Given the description of an element on the screen output the (x, y) to click on. 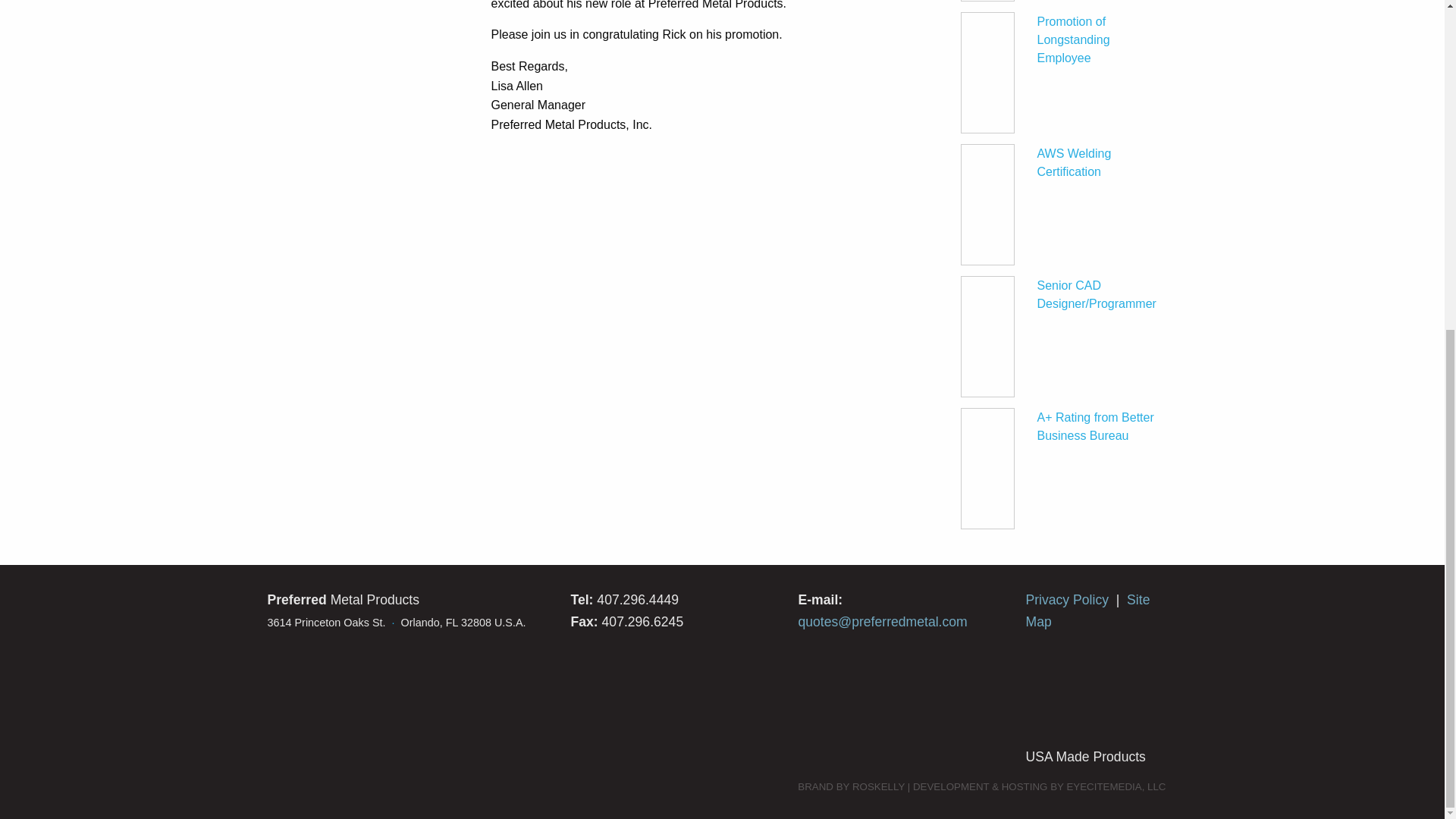
Promotion of Longstanding Employee (1072, 39)
Privacy Policy (1066, 599)
AWS Welding Certification (1073, 162)
Site Map (1087, 610)
BRAND BY ROSKELLY (850, 786)
